Given the description of an element on the screen output the (x, y) to click on. 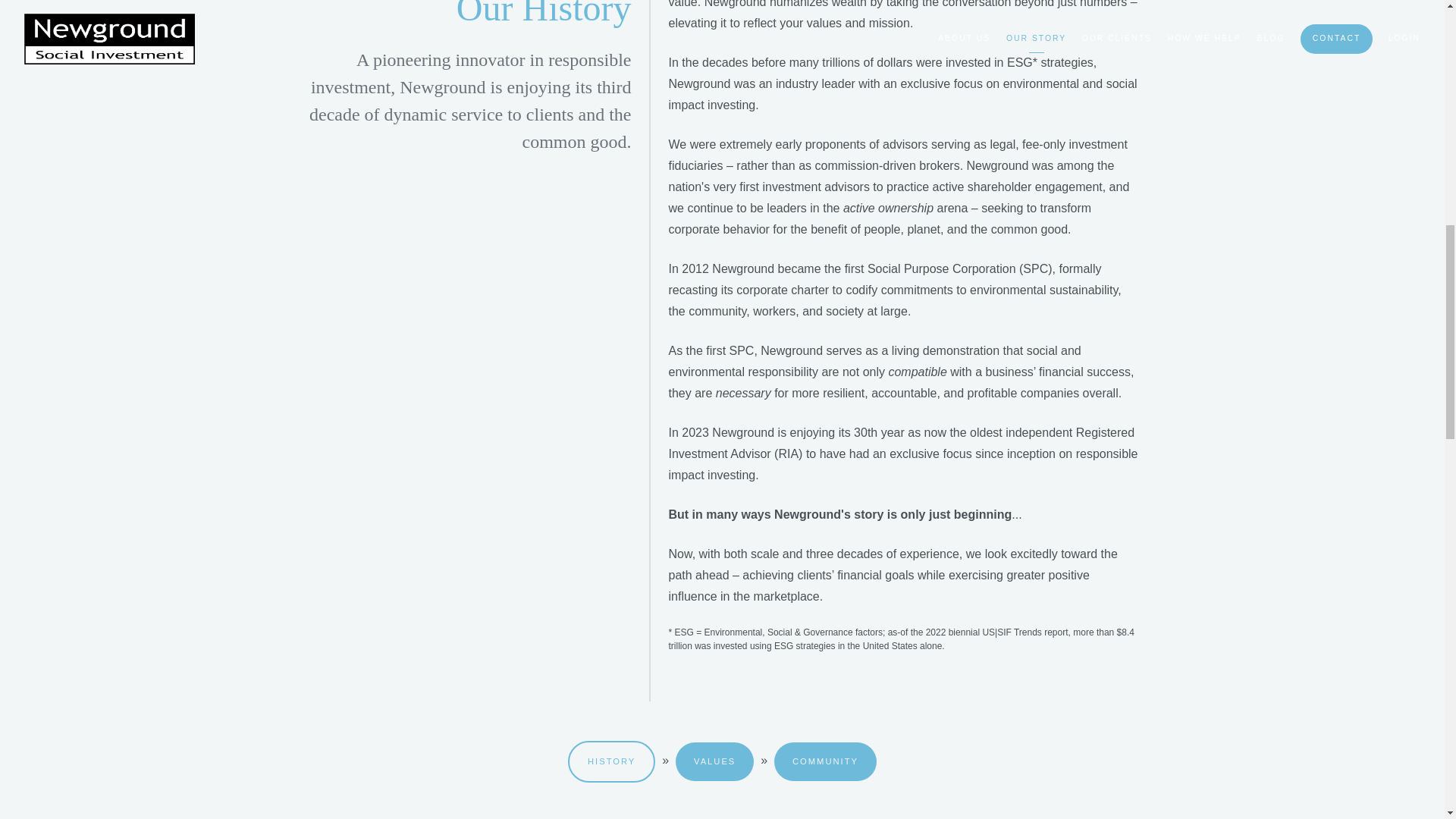
HISTORY (611, 761)
VALUES (714, 762)
COMMUNITY (825, 762)
